Given the description of an element on the screen output the (x, y) to click on. 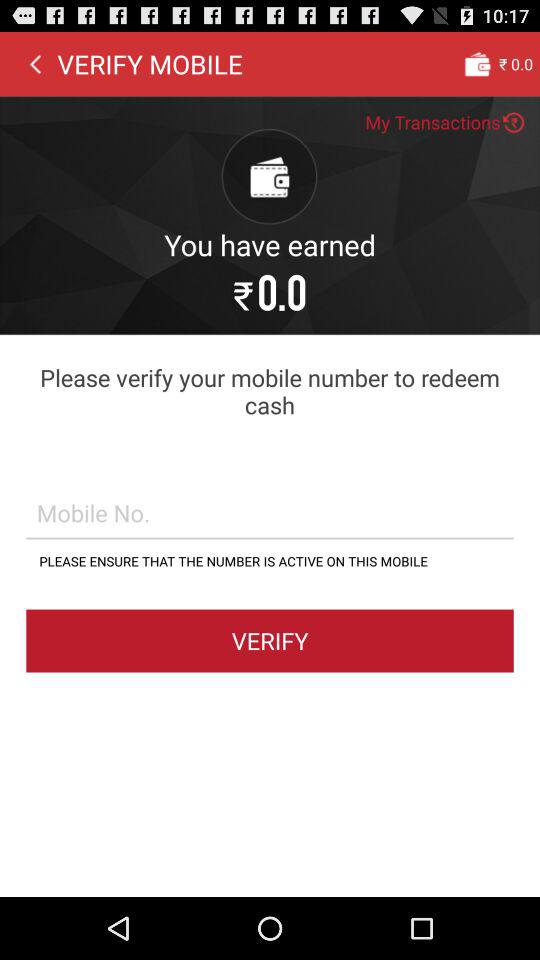
enter phone number (269, 512)
